Given the description of an element on the screen output the (x, y) to click on. 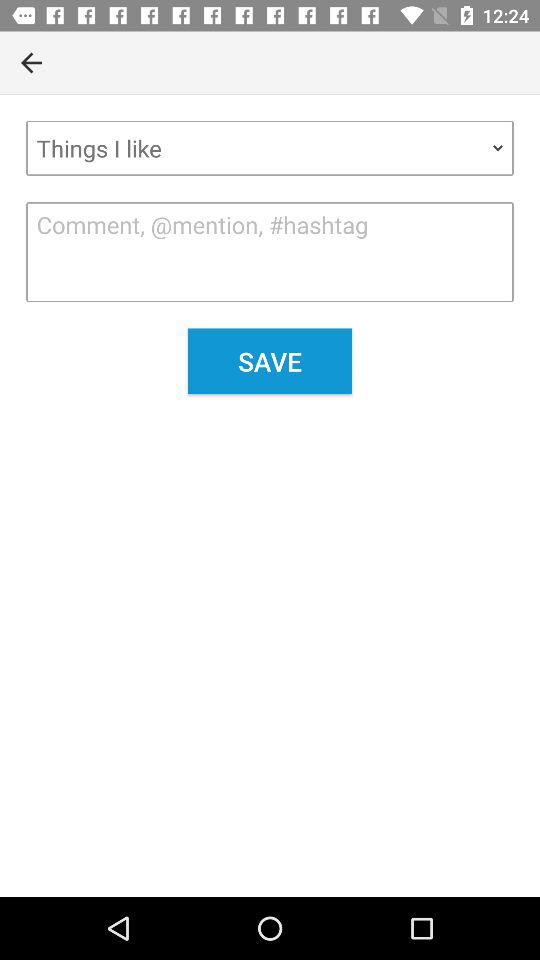
swipe until things i like item (269, 147)
